Given the description of an element on the screen output the (x, y) to click on. 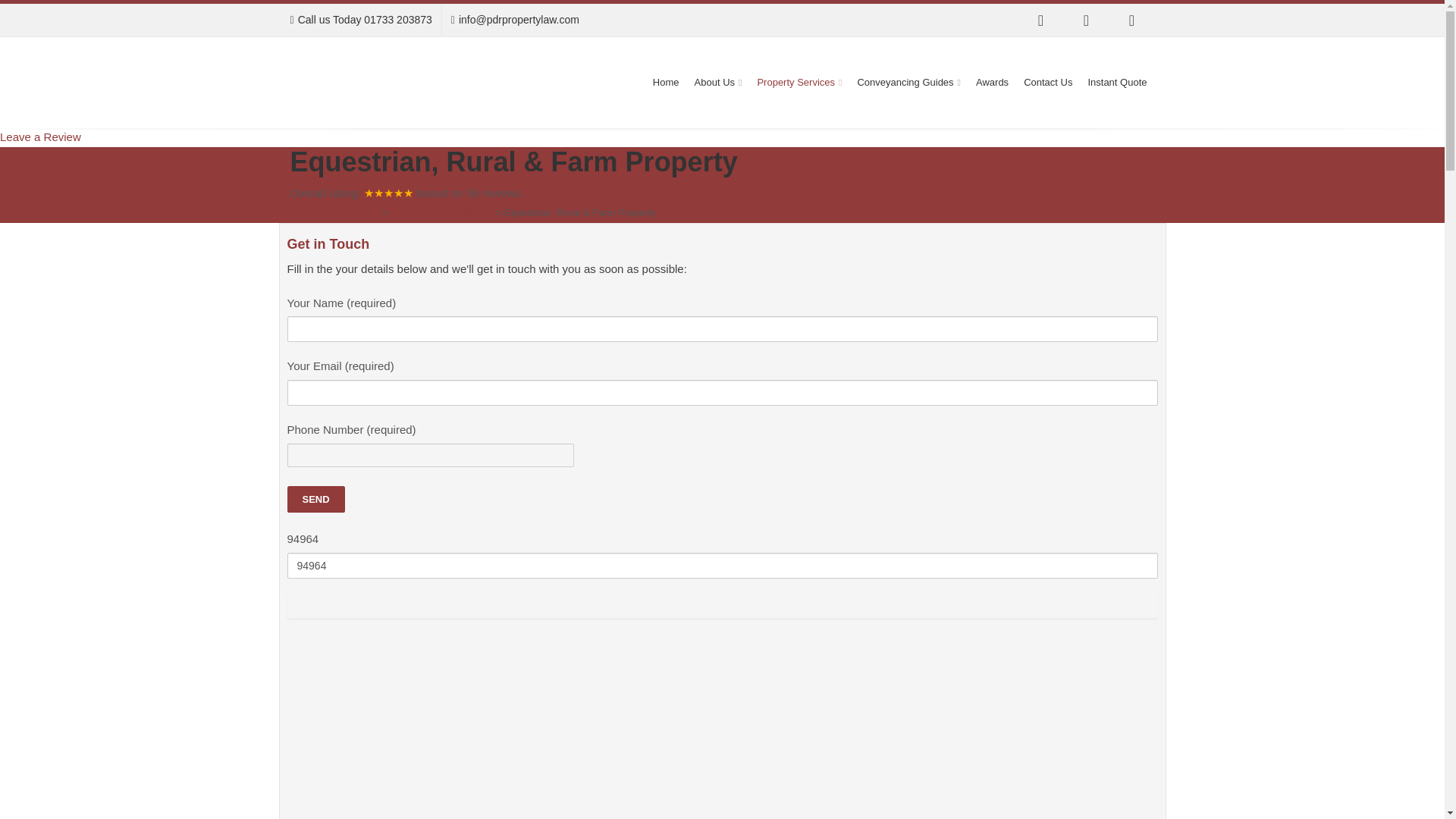
Property Services (798, 81)
Call us Today 01733 203873 (359, 19)
Conveyancing Guides (908, 81)
Send (314, 499)
94964 (721, 565)
Go to PDR Property Lawyers. (328, 212)
